Given the description of an element on the screen output the (x, y) to click on. 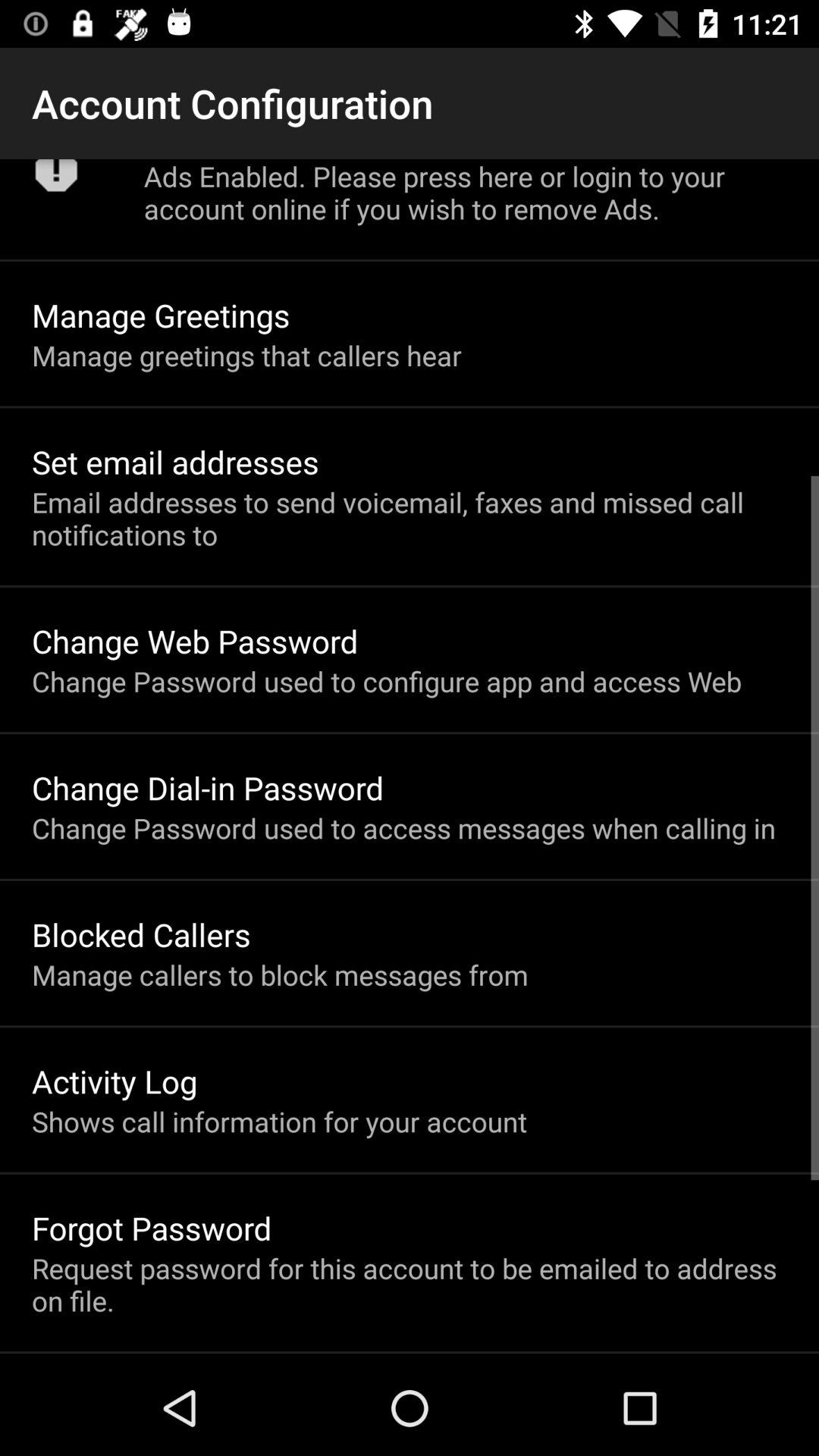
tap app above the request password for item (151, 1227)
